Given the description of an element on the screen output the (x, y) to click on. 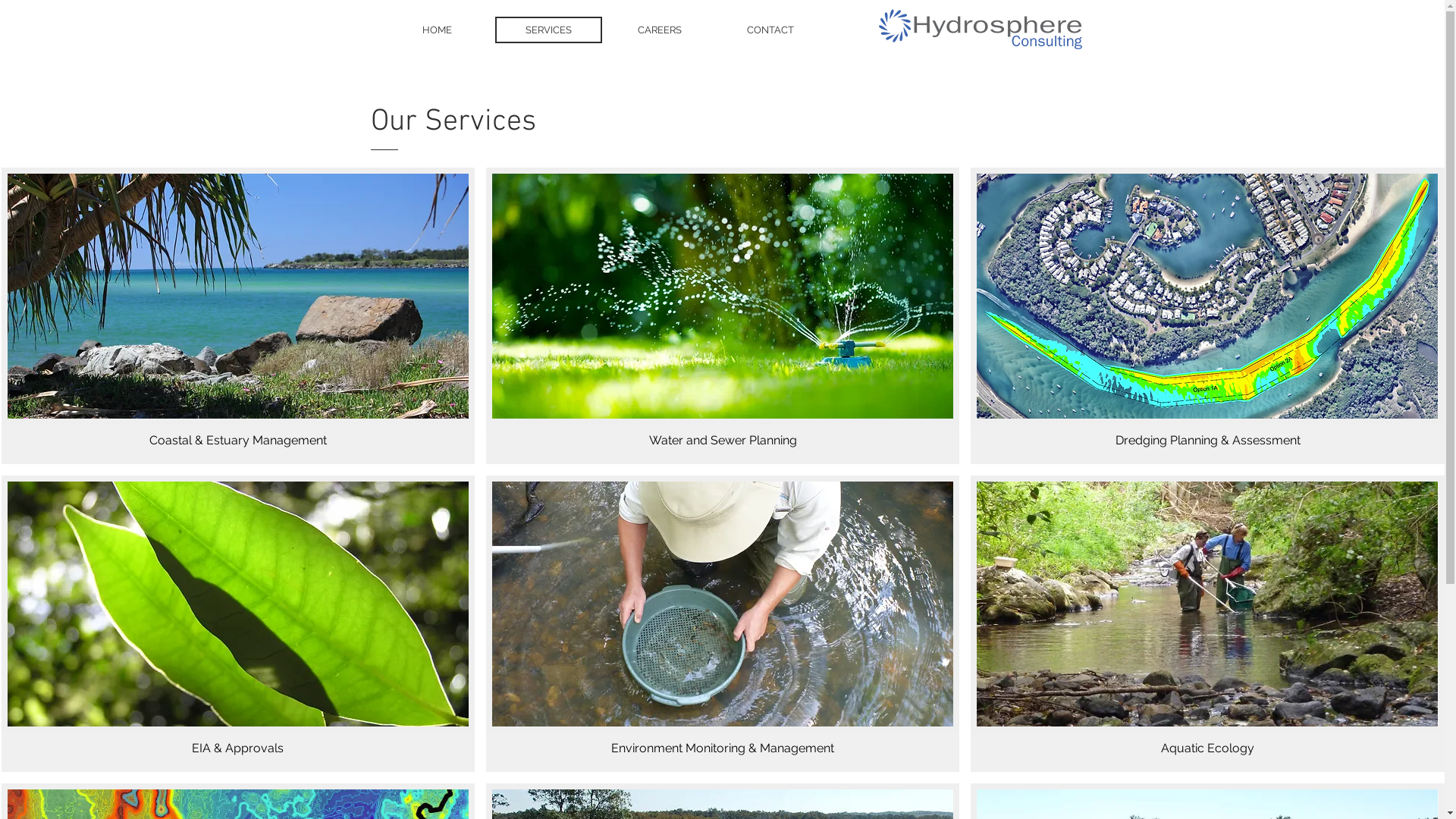
CONTACT Element type: text (770, 29)
Water and Sewer Planning Element type: text (722, 315)
Aquatic Ecology Element type: text (1206, 623)
HOME Element type: text (436, 29)
Dredging Planning & Assessment Element type: text (1206, 315)
EIA & Approvals Element type: text (237, 623)
SERVICES Element type: text (547, 29)
Environment Monitoring & Management Element type: text (722, 623)
Coastal & Estuary Management Element type: text (237, 315)
CAREERS Element type: text (659, 29)
